Given the description of an element on the screen output the (x, y) to click on. 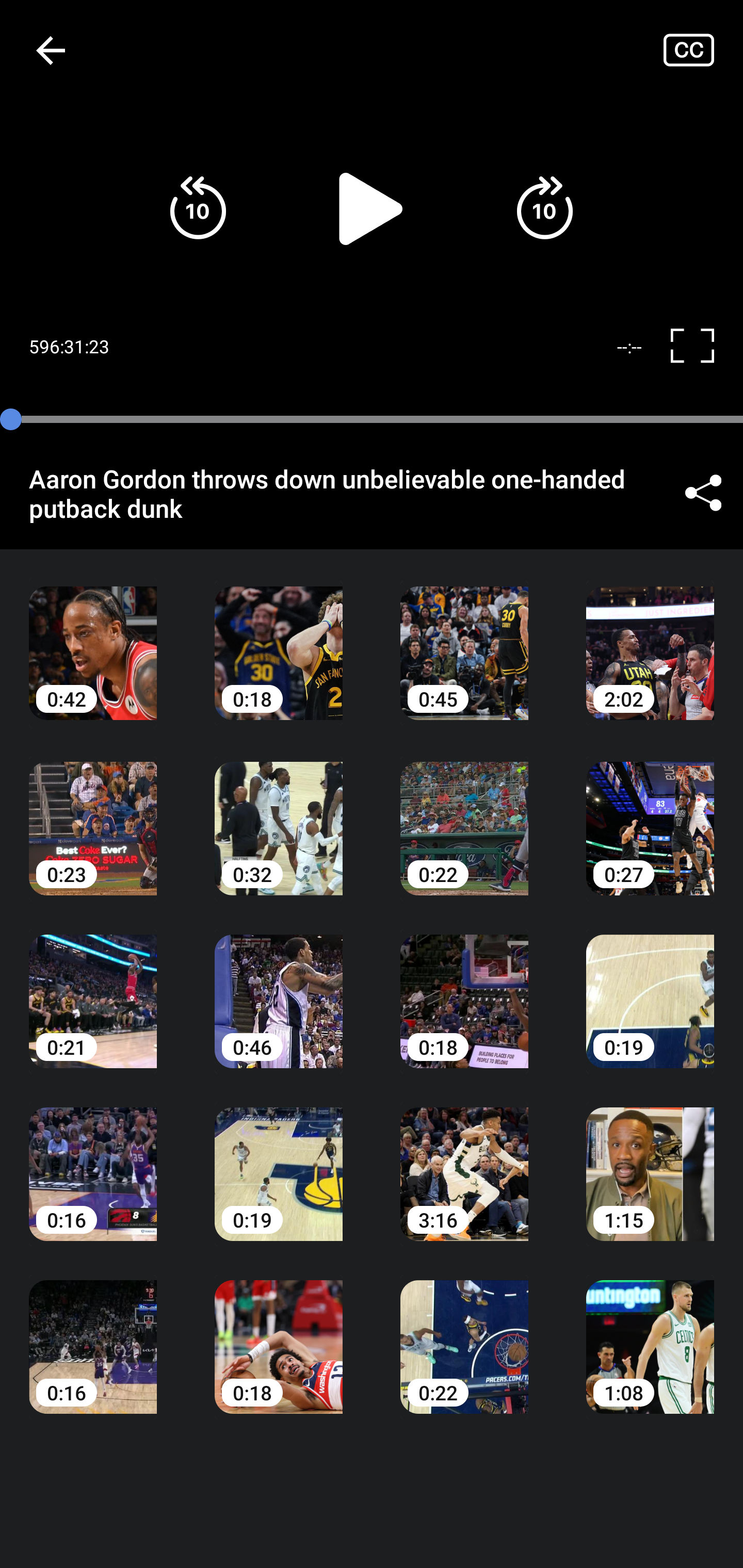
Navigate up (50, 50)
Closed captions  (703, 49)
Rewind 10 seconds  (197, 208)
Fast forward 10 seconds  (544, 208)
Play (371, 208)
Fullscreen  (699, 346)
Share © (703, 493)
0:42 (92, 637)
0:18 (278, 637)
0:45 (464, 637)
2:02 (650, 637)
0:23 (92, 813)
0:32 (278, 813)
0:22 (464, 813)
0:27 (650, 813)
0:21 (92, 987)
0:46 (278, 987)
0:18 (464, 987)
0:19 (650, 987)
0:16 (92, 1160)
0:19 (278, 1160)
3:16 (464, 1160)
1:15 (650, 1160)
0:16 (92, 1332)
0:18 (278, 1332)
0:22 (464, 1332)
1:08 (650, 1332)
